Given the description of an element on the screen output the (x, y) to click on. 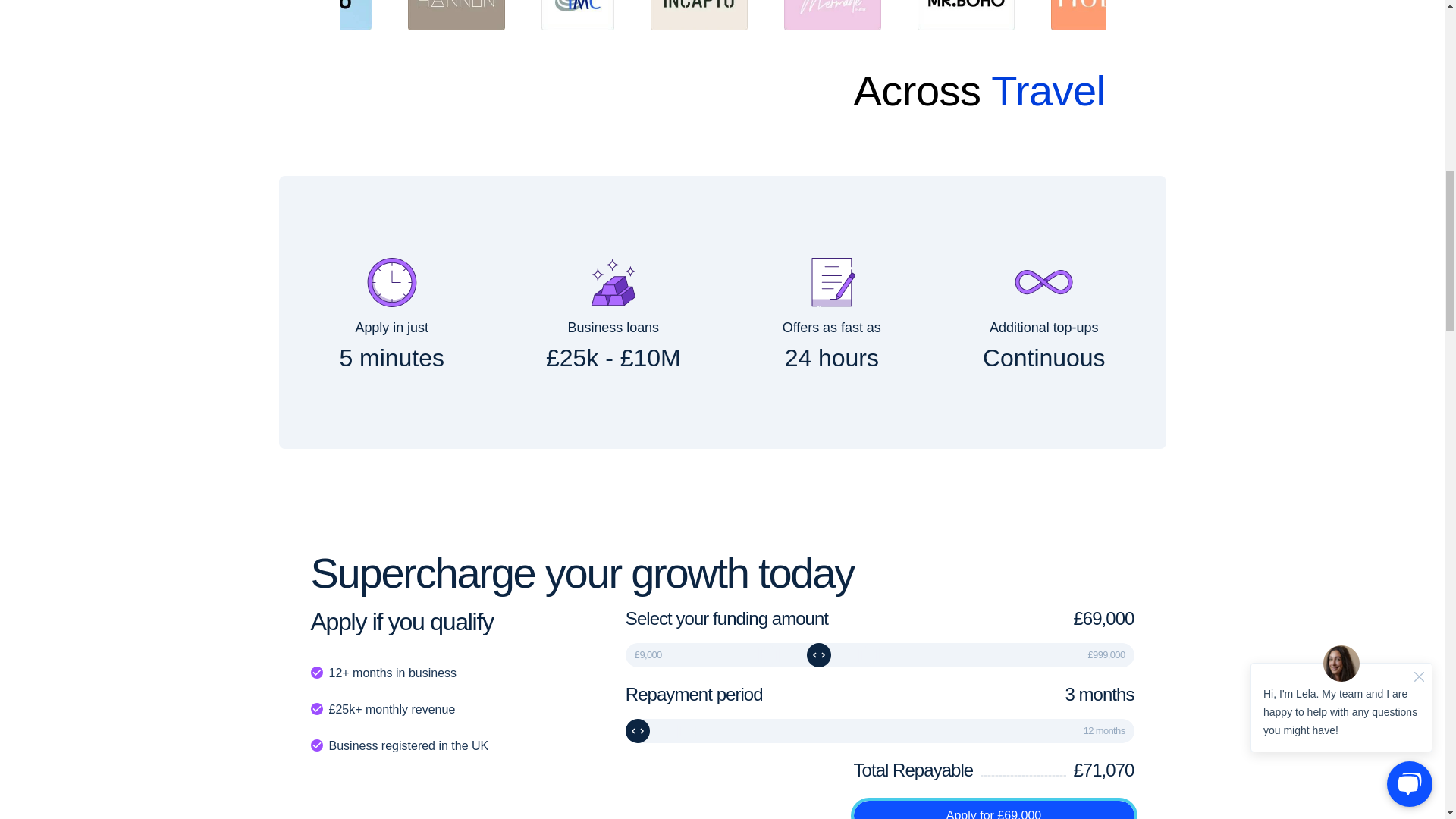
0 (880, 730)
3 (880, 654)
